Given the description of an element on the screen output the (x, y) to click on. 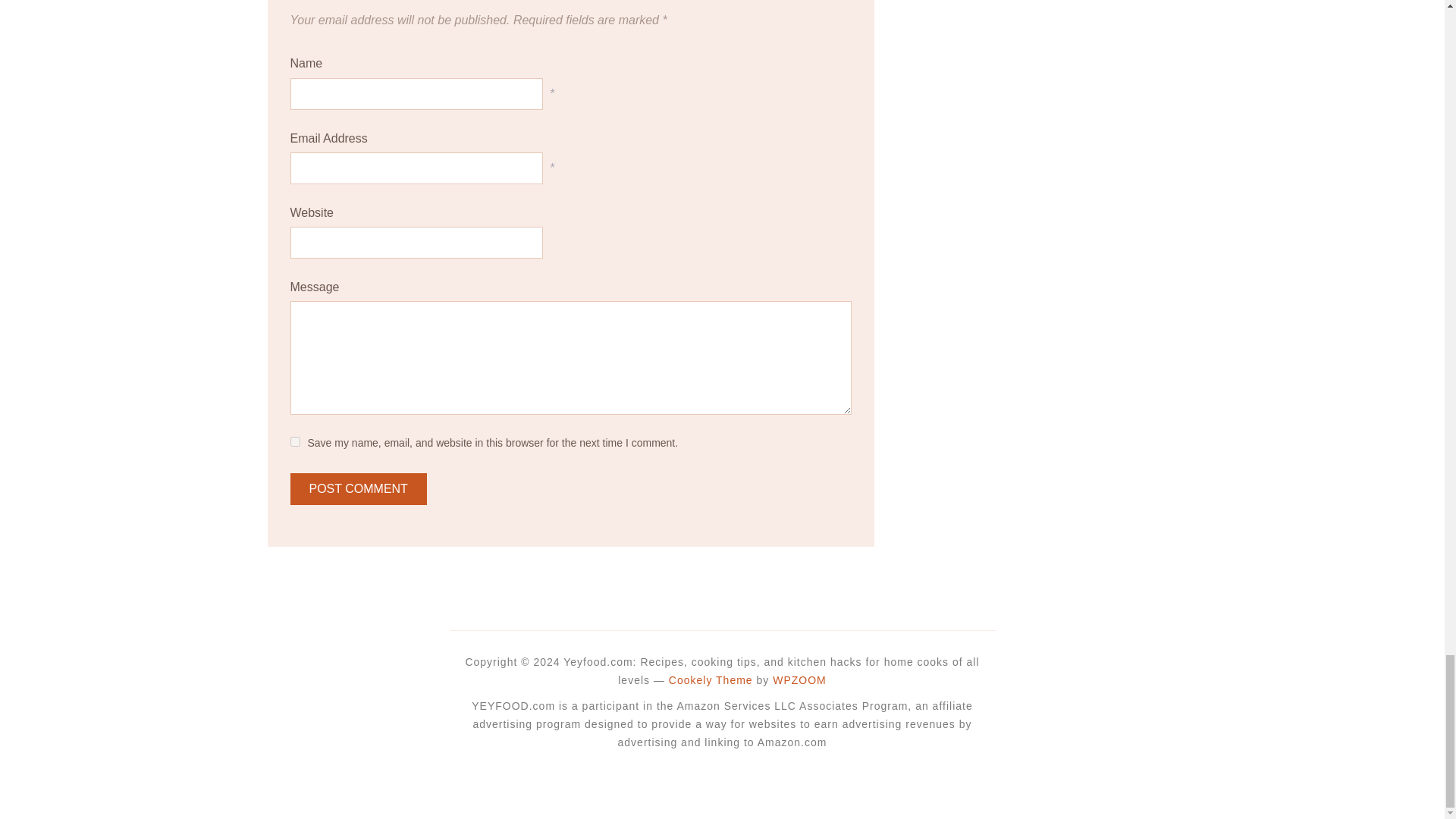
yes (294, 441)
Post Comment (357, 489)
Post Comment (357, 489)
